Given the description of an element on the screen output the (x, y) to click on. 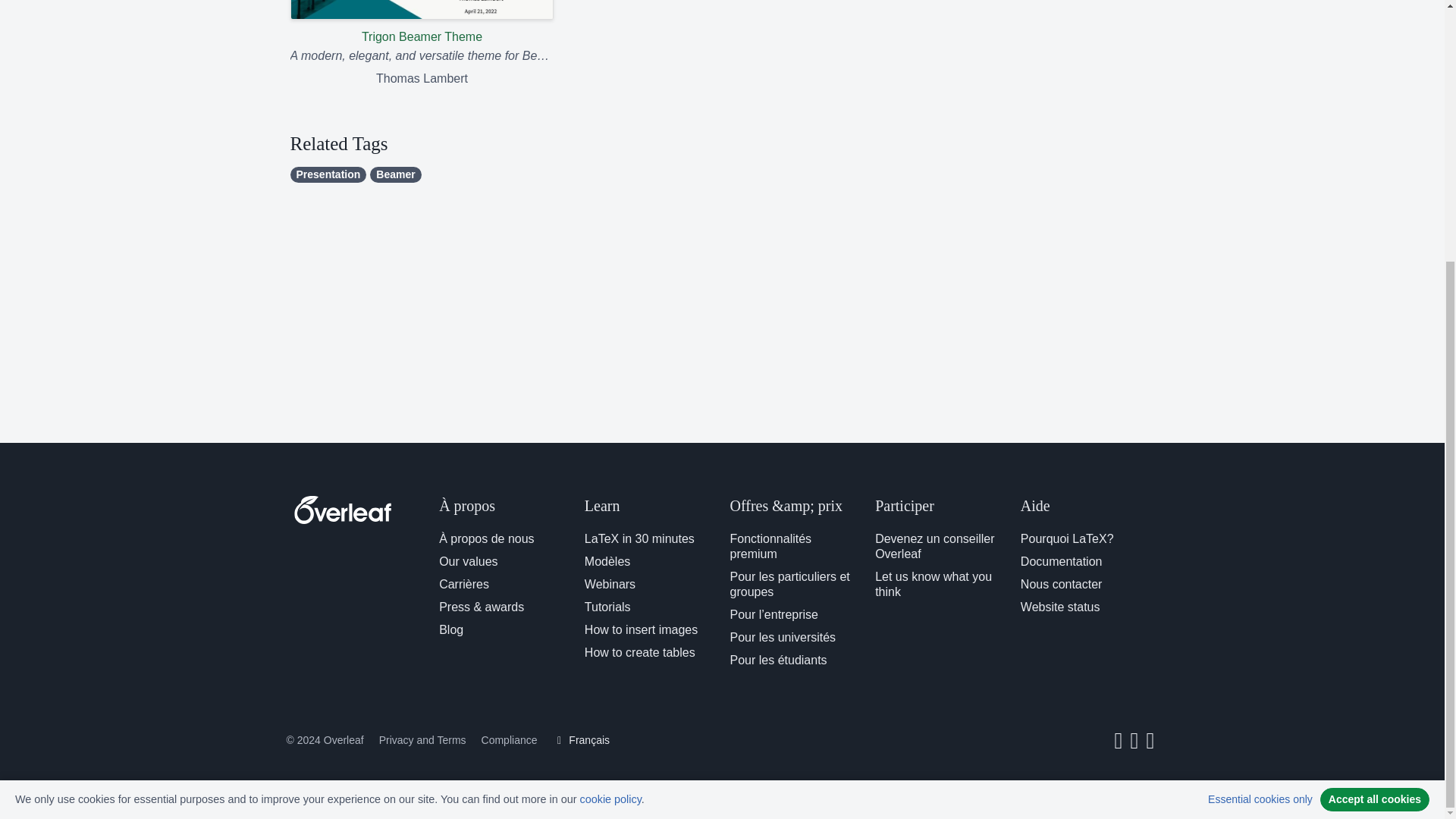
Presentation (327, 174)
How to insert images (641, 629)
Beamer (394, 174)
Pour les particuliers et groupes (788, 584)
How to create tables (640, 652)
Blog (451, 629)
Trigon Beamer Theme (421, 23)
Tutorials (607, 606)
Webinars (609, 584)
Our values (468, 561)
LaTeX in 30 minutes (639, 538)
